Given the description of an element on the screen output the (x, y) to click on. 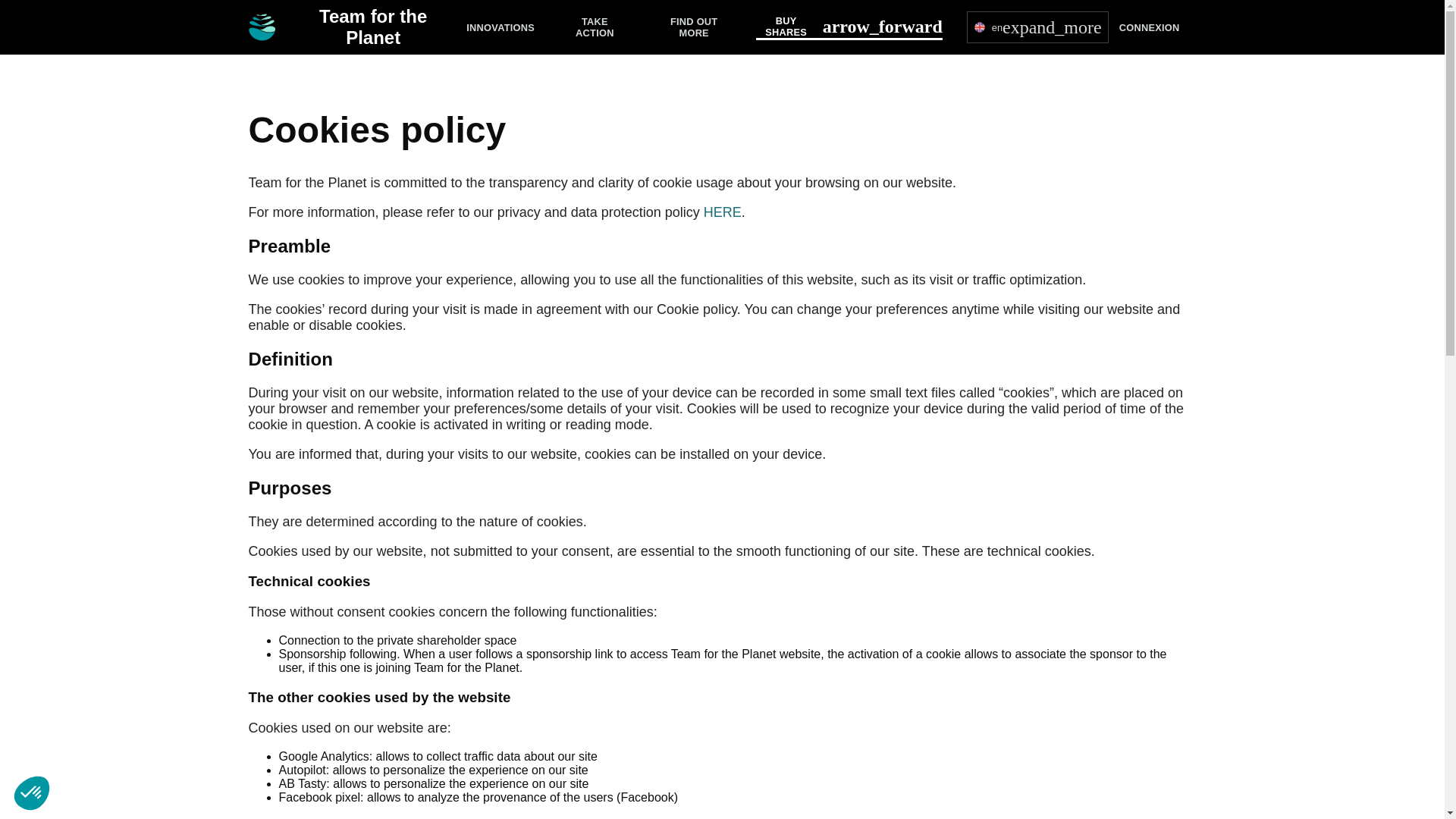
INNOVATIONS (499, 27)
TAKE ACTION (594, 27)
Manage your preferences about cookies (31, 792)
CONNEXION (1150, 27)
Team for the Planet (352, 26)
FIND OUT MORE (694, 27)
0 (109, 766)
